Given the description of an element on the screen output the (x, y) to click on. 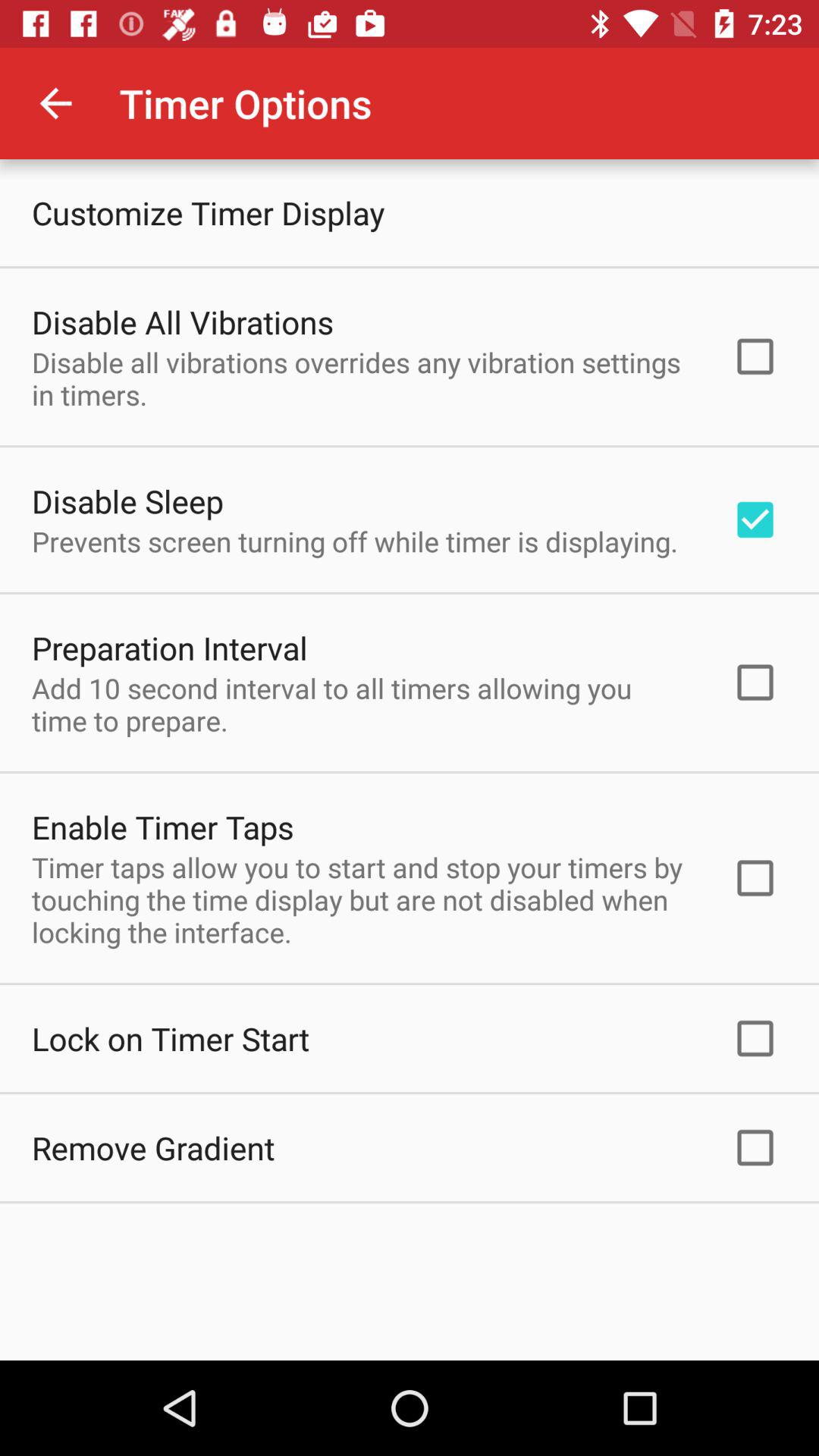
turn off icon below prevents screen turning (169, 647)
